Given the description of an element on the screen output the (x, y) to click on. 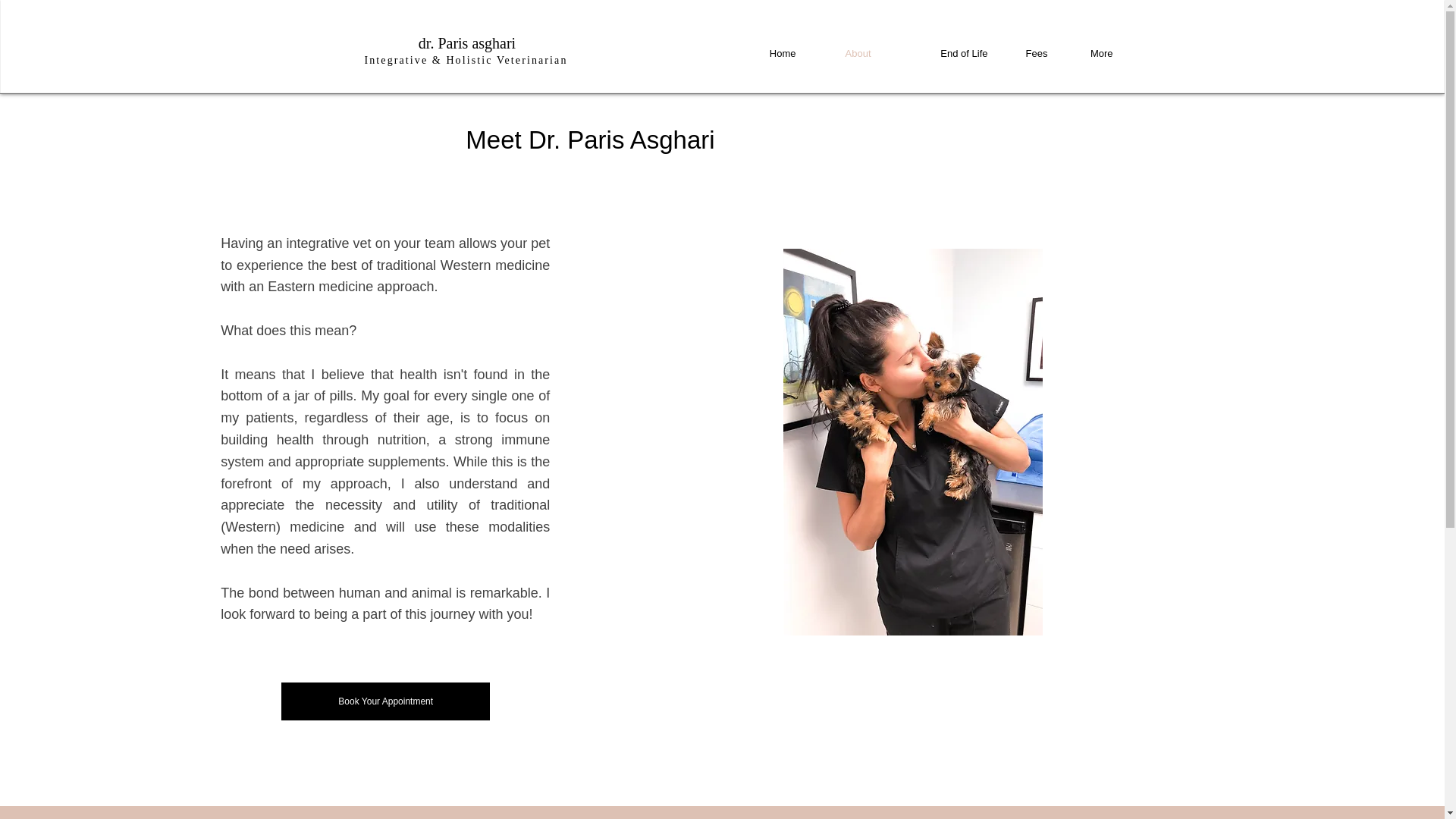
End of Life (940, 53)
Book Your Appointment (385, 701)
Home (774, 53)
dr. Paris asghari (467, 43)
About (844, 53)
Fees (1028, 53)
